Given the description of an element on the screen output the (x, y) to click on. 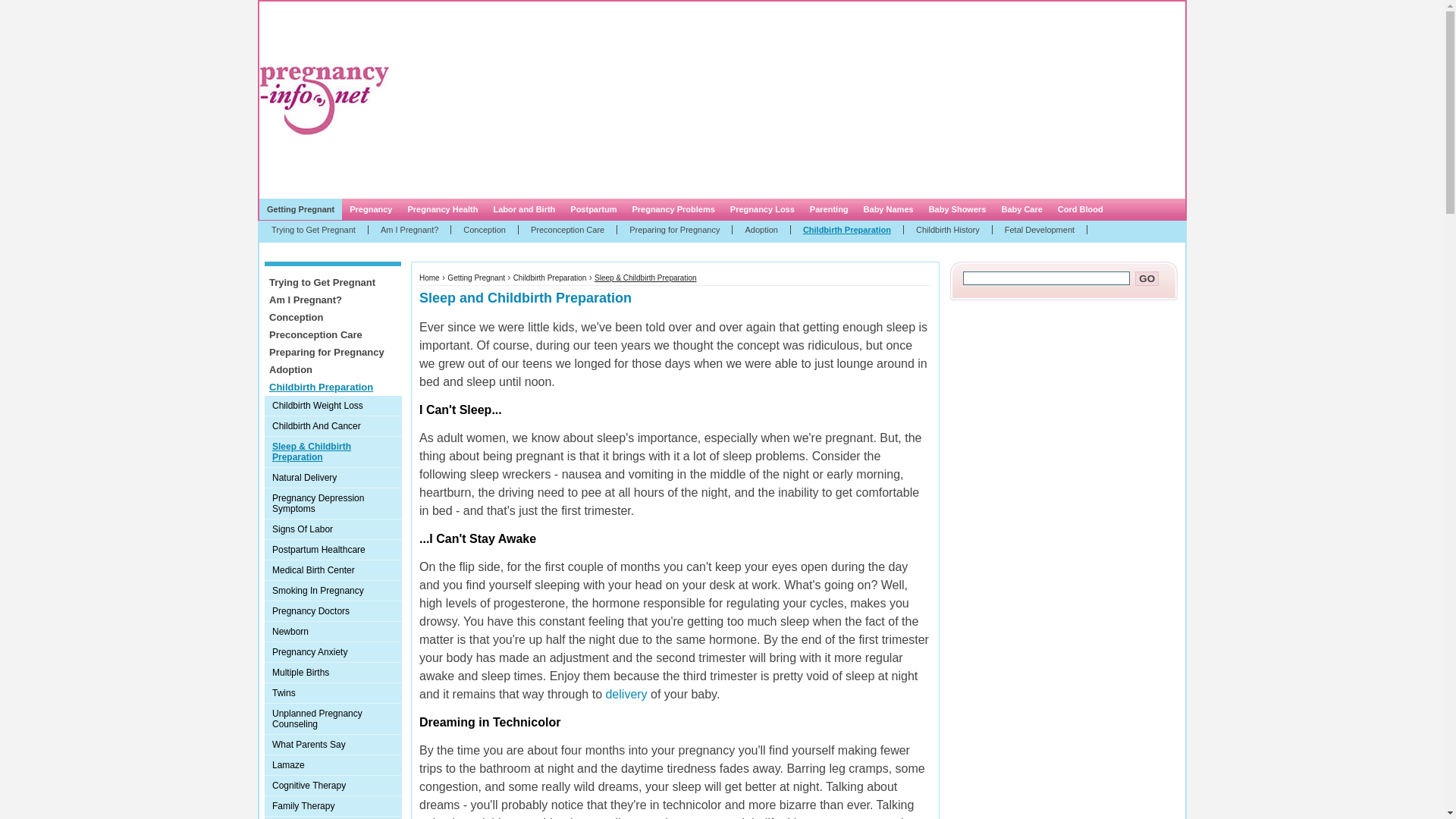
Advertisement (718, 99)
Am I Pregnant? (331, 299)
Conception (331, 316)
GO (1146, 278)
Conception (484, 229)
Trying to Get Pregnant (313, 229)
Parenting (829, 209)
Trying to Get Pregnant (331, 282)
Home (429, 277)
Baby Names (888, 209)
